Given the description of an element on the screen output the (x, y) to click on. 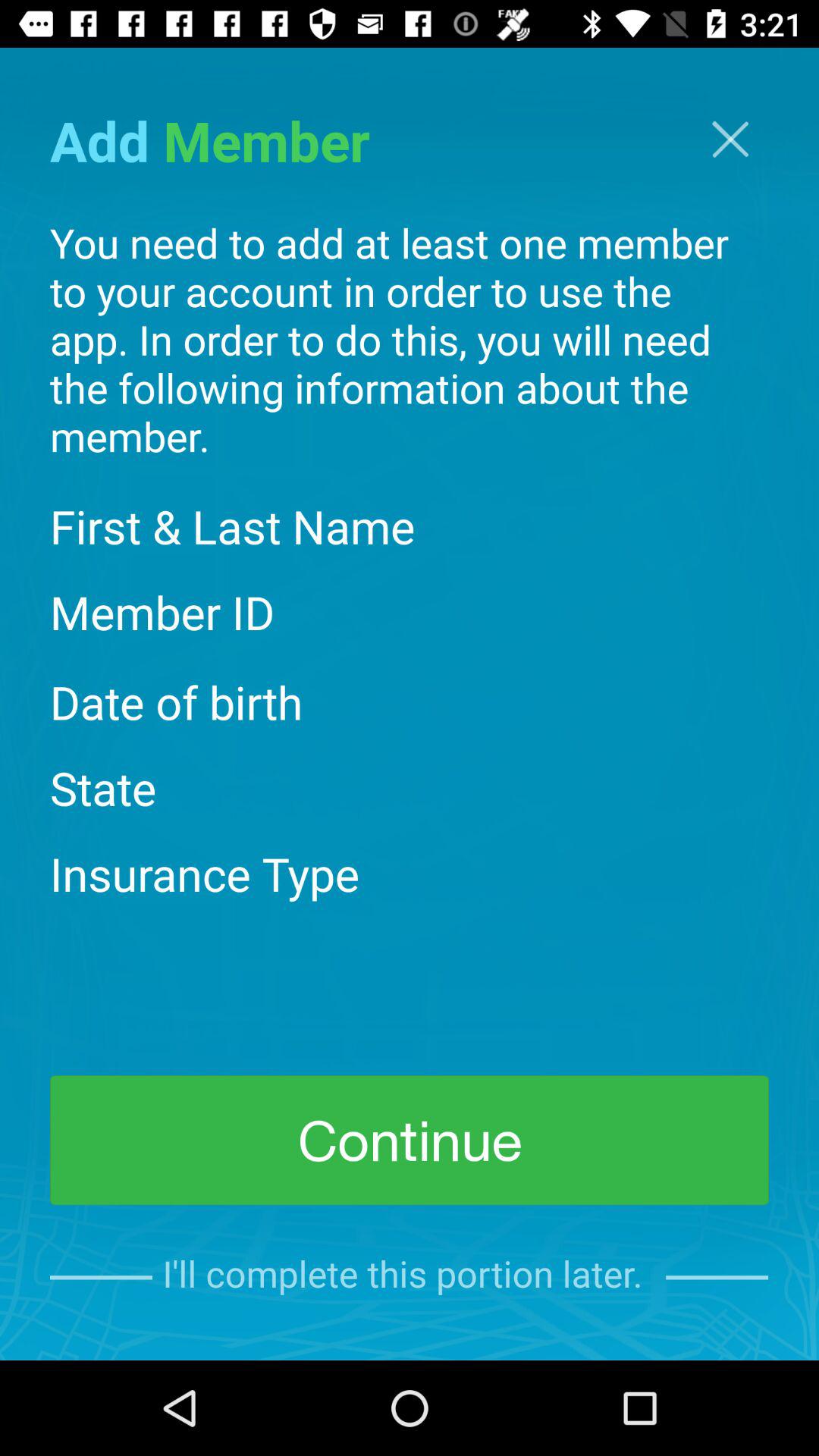
exit (730, 139)
